Given the description of an element on the screen output the (x, y) to click on. 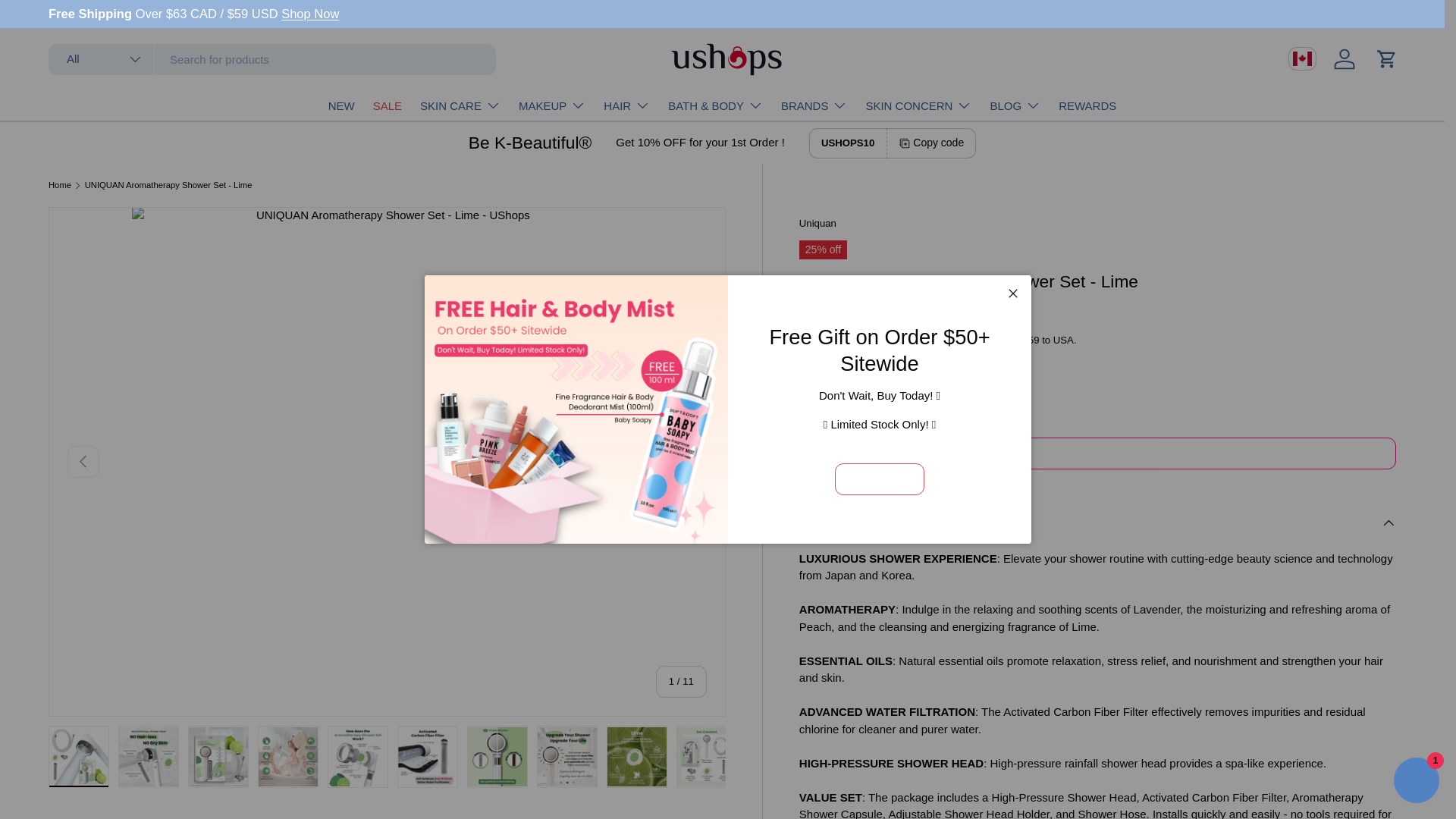
Log in (1344, 59)
All (101, 59)
SKIN CARE (460, 105)
1 (876, 454)
New products (310, 13)
SALE (386, 105)
Shopify online store chat (1416, 781)
Shop Now (310, 13)
NEW (342, 105)
Cart (1386, 59)
Skip to content (68, 21)
